Given the description of an element on the screen output the (x, y) to click on. 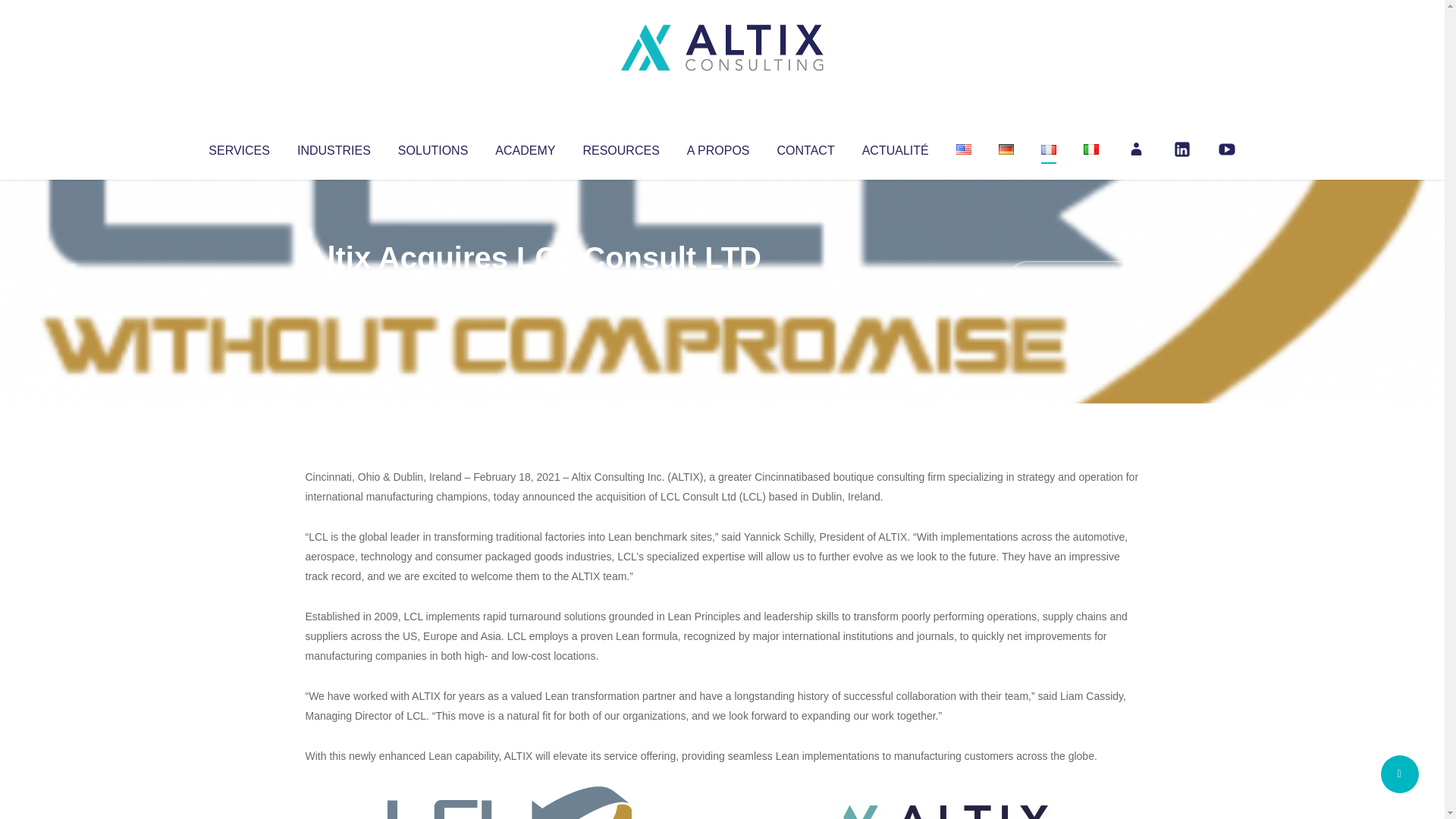
RESOURCES (620, 146)
ACADEMY (524, 146)
SOLUTIONS (432, 146)
Uncategorized (530, 287)
Articles par Altix (333, 287)
SERVICES (238, 146)
Altix (333, 287)
No Comments (1073, 278)
INDUSTRIES (334, 146)
A PROPOS (718, 146)
